Given the description of an element on the screen output the (x, y) to click on. 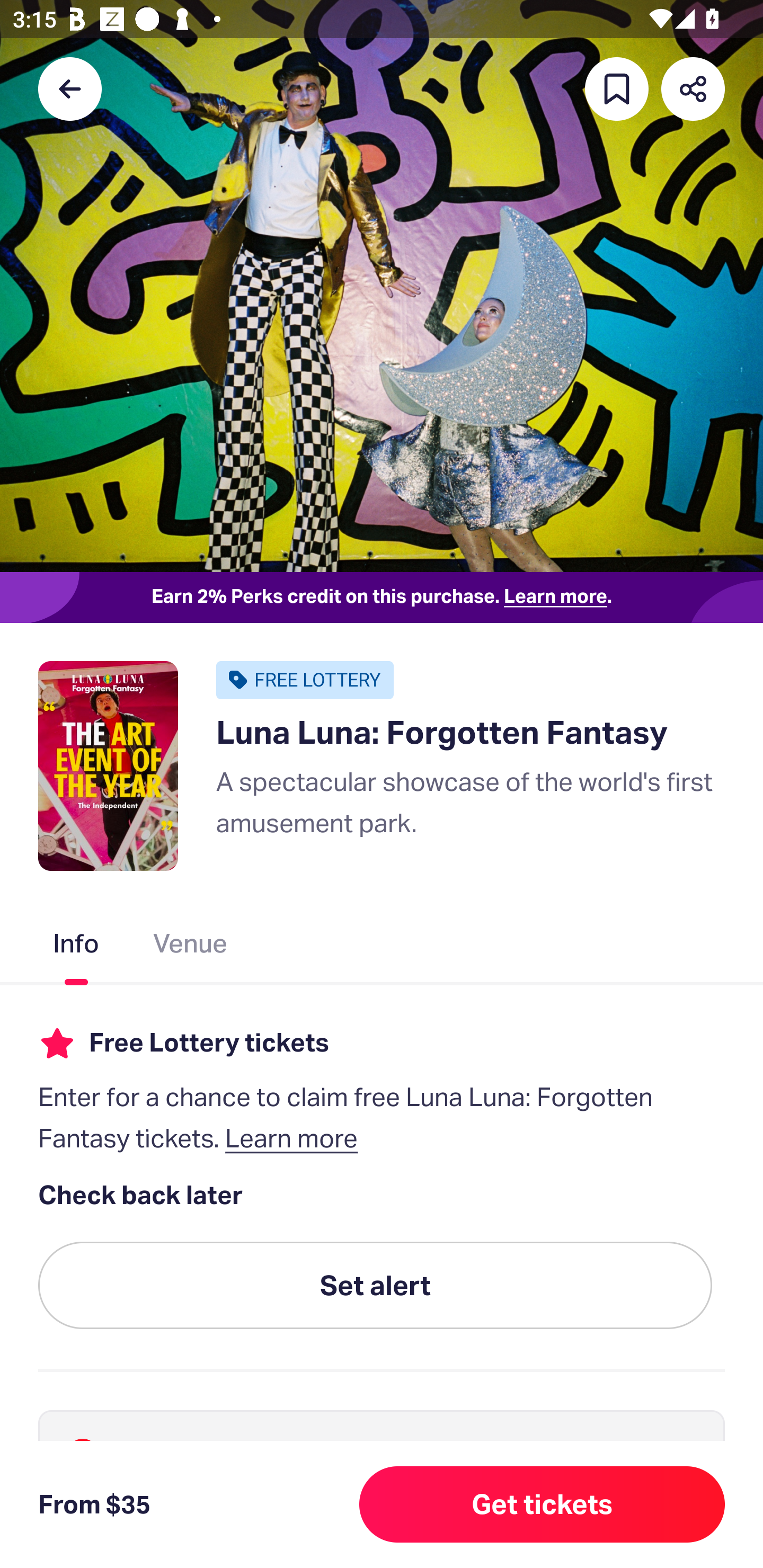
Earn 2% Perks credit on this purchase. Learn more. (381, 597)
Venue (190, 946)
Set alert (374, 1286)
Get tickets (541, 1504)
